Given the description of an element on the screen output the (x, y) to click on. 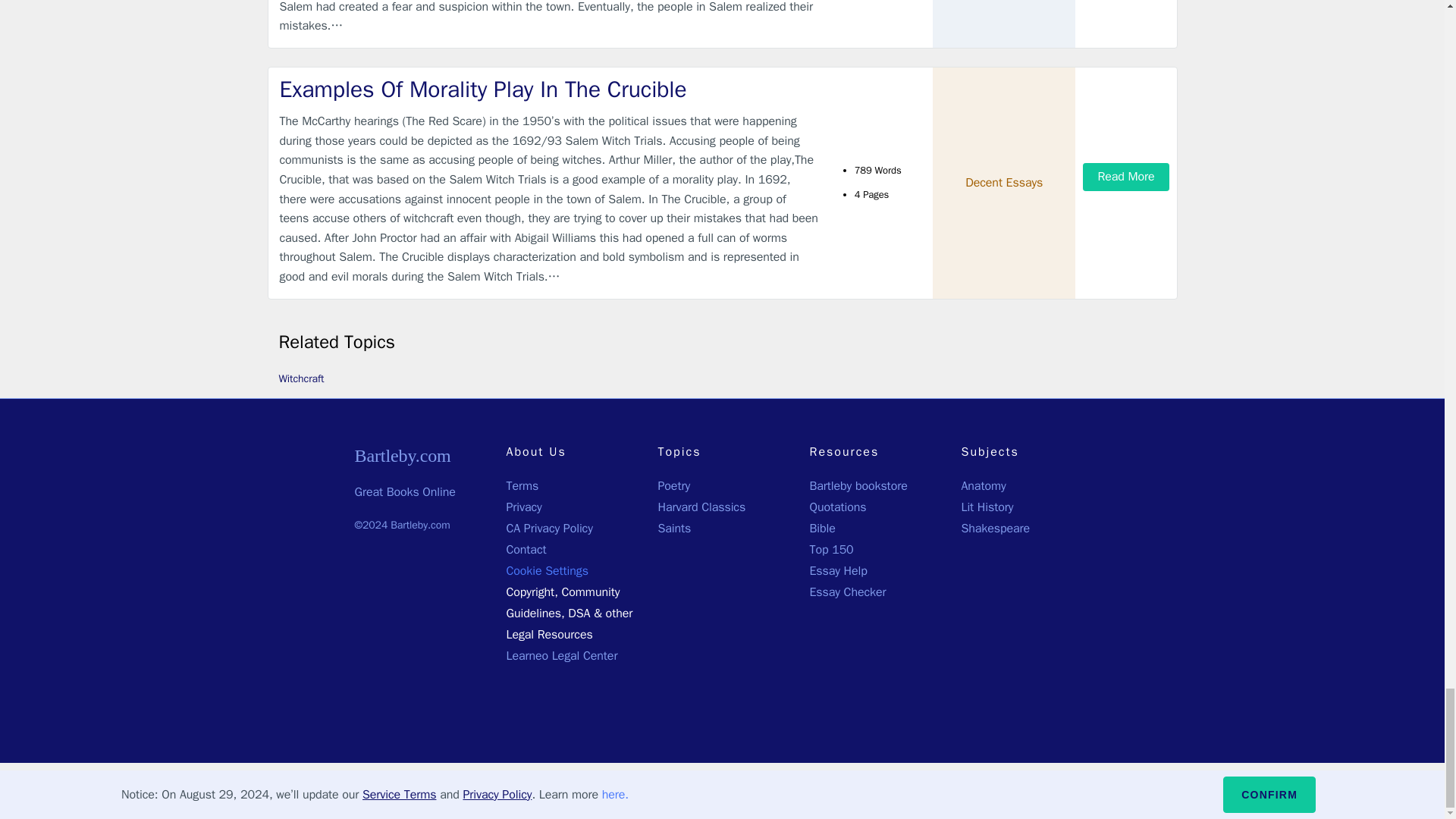
Witchcraft (301, 377)
